Given the description of an element on the screen output the (x, y) to click on. 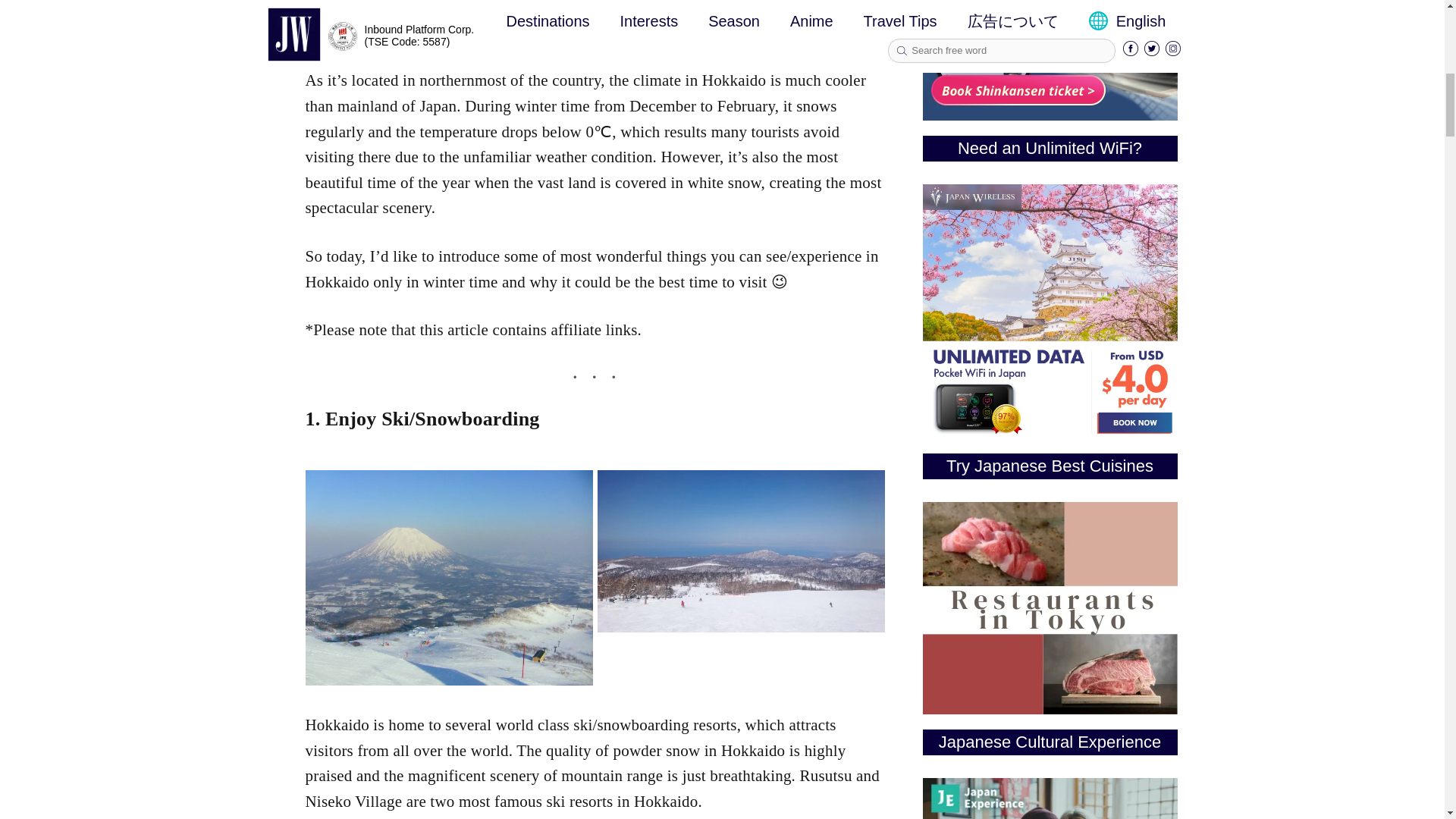
Share to Reddit (255, 40)
Share to Pinterest (255, 9)
